Given the description of an element on the screen output the (x, y) to click on. 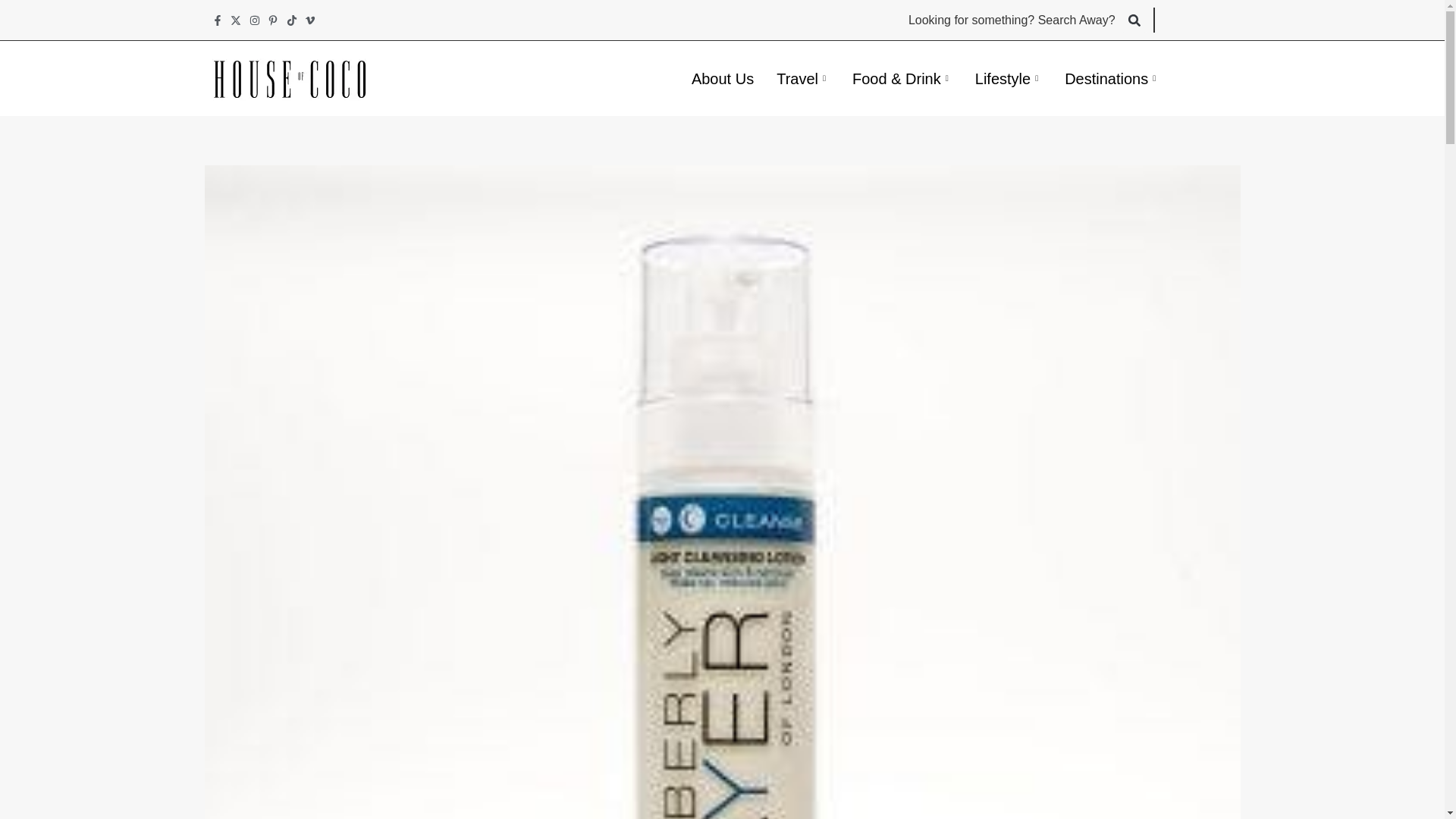
Lifestyle (1007, 77)
Travel (803, 77)
About Us (722, 77)
